Given the description of an element on the screen output the (x, y) to click on. 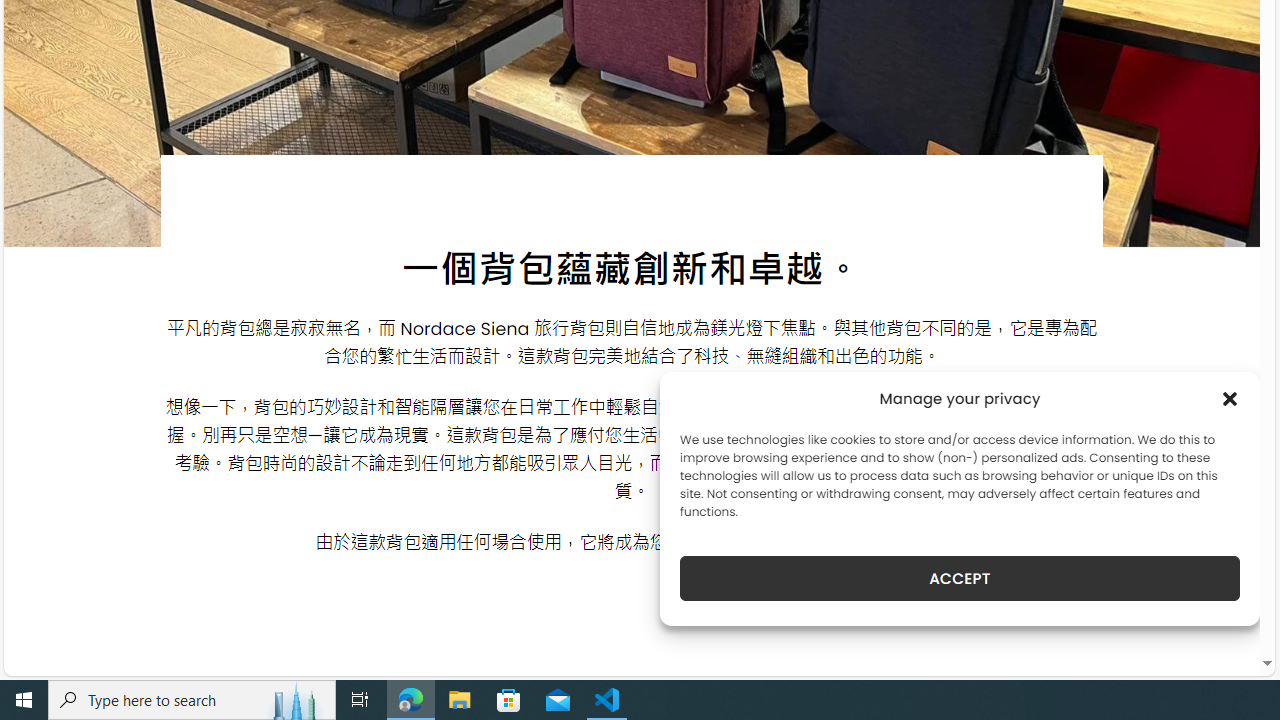
Search highlights icon opens search home window (295, 699)
File Explorer (460, 699)
Microsoft Store (509, 699)
Start (24, 699)
Microsoft Edge - 1 running window (411, 699)
Visual Studio Code - 1 running window (607, 699)
ACCEPT (959, 578)
Type here to search (191, 699)
Class: cmplz-close (1229, 398)
Task View (359, 699)
